Given the description of an element on the screen output the (x, y) to click on. 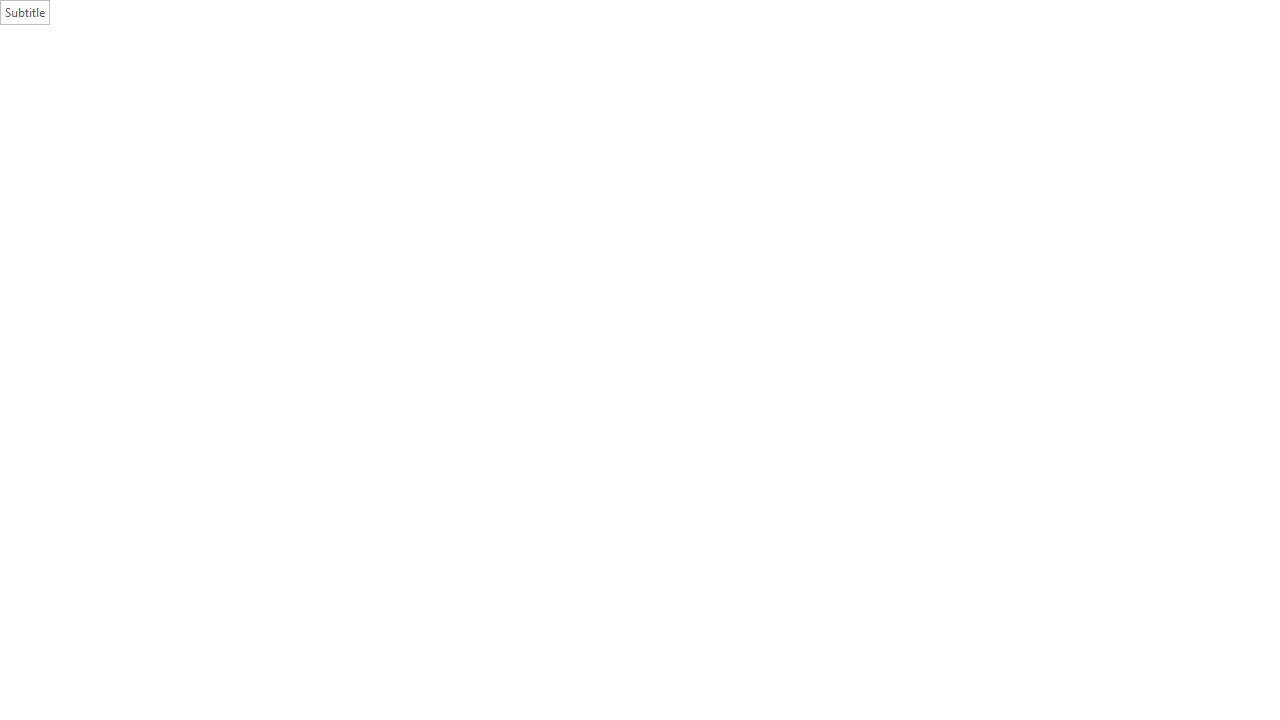
Distributed (623, 119)
Heading 2 (1063, 100)
Undo Apply Quick Style (164, 15)
Italic (207, 119)
Grow Font (342, 87)
Align Right (575, 119)
Clear Formatting (442, 87)
